Given the description of an element on the screen output the (x, y) to click on. 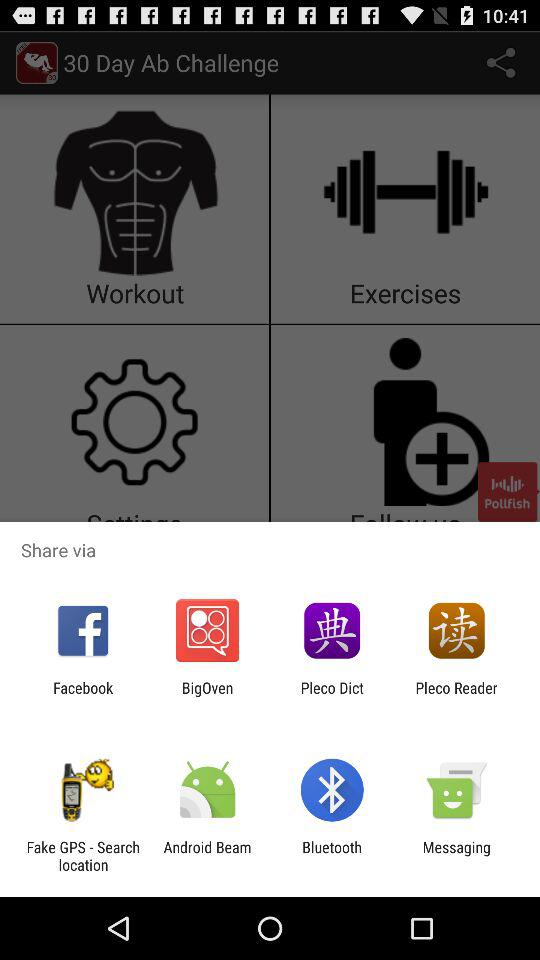
tap the messaging app (456, 856)
